Given the description of an element on the screen output the (x, y) to click on. 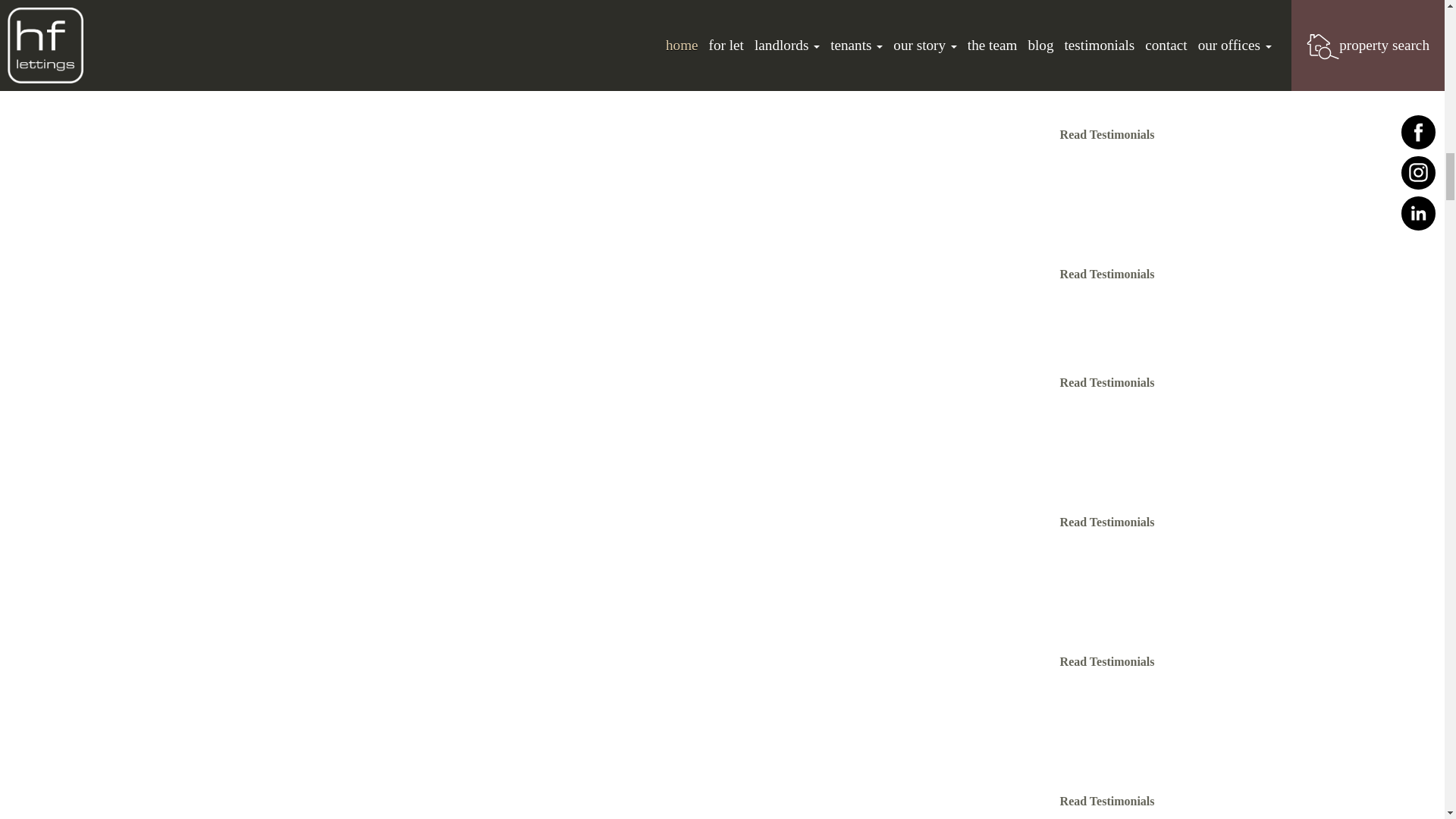
Read Testimonials (1106, 0)
Read Testimonials (1106, 521)
Read Testimonials (1106, 133)
Read Testimonials (1106, 661)
Read Testimonials (1106, 382)
Read Testimonials (1106, 800)
Read Testimonials (1106, 273)
